Given the description of an element on the screen output the (x, y) to click on. 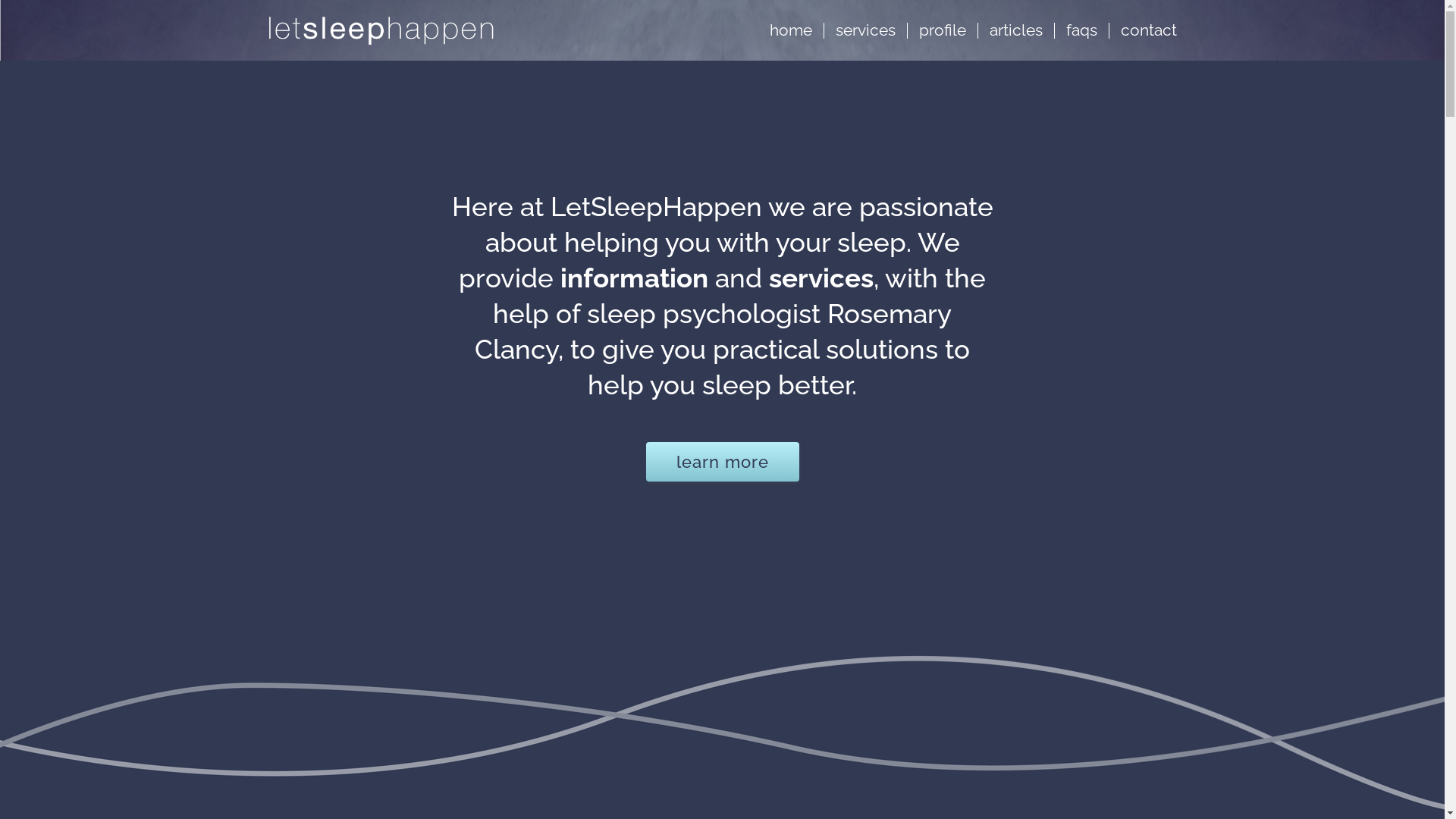
services Element type: text (865, 30)
LetSleepHappen Element type: hover (490, 30)
faqs Element type: text (1081, 30)
home Element type: text (790, 30)
contact Element type: text (1148, 30)
learn more Element type: text (722, 461)
profile Element type: text (942, 30)
articles Element type: text (1015, 30)
